Given the description of an element on the screen output the (x, y) to click on. 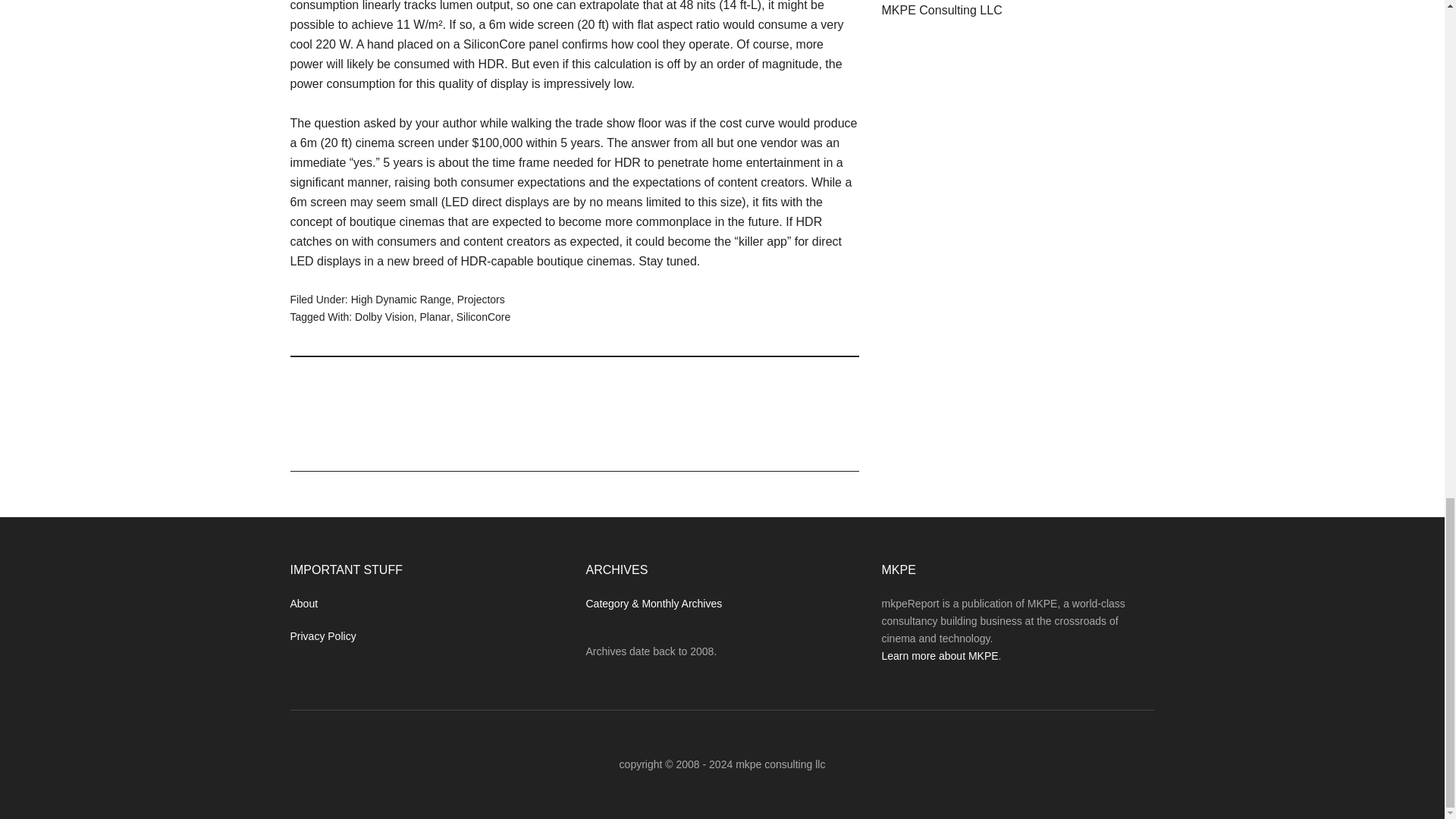
Dolby Vision (384, 316)
SiliconCore (484, 316)
MKPE Consulting LLC (940, 10)
High Dynamic Range (400, 299)
About (303, 603)
Projectors (481, 299)
Planar (434, 316)
Privacy Policy (322, 635)
MKPE Consulting LLC (940, 10)
